Given the description of an element on the screen output the (x, y) to click on. 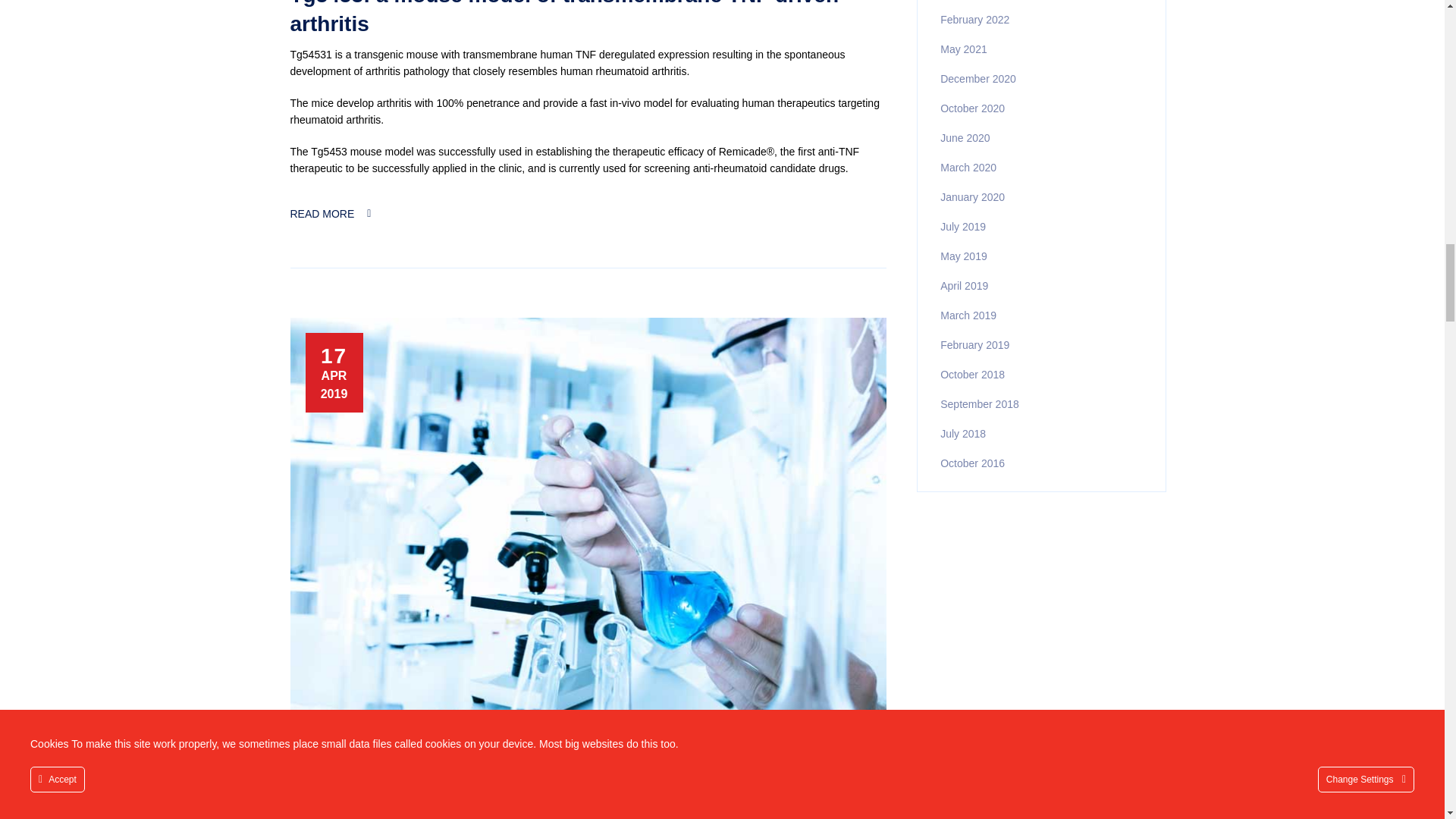
Page 1 (587, 110)
